Given the description of an element on the screen output the (x, y) to click on. 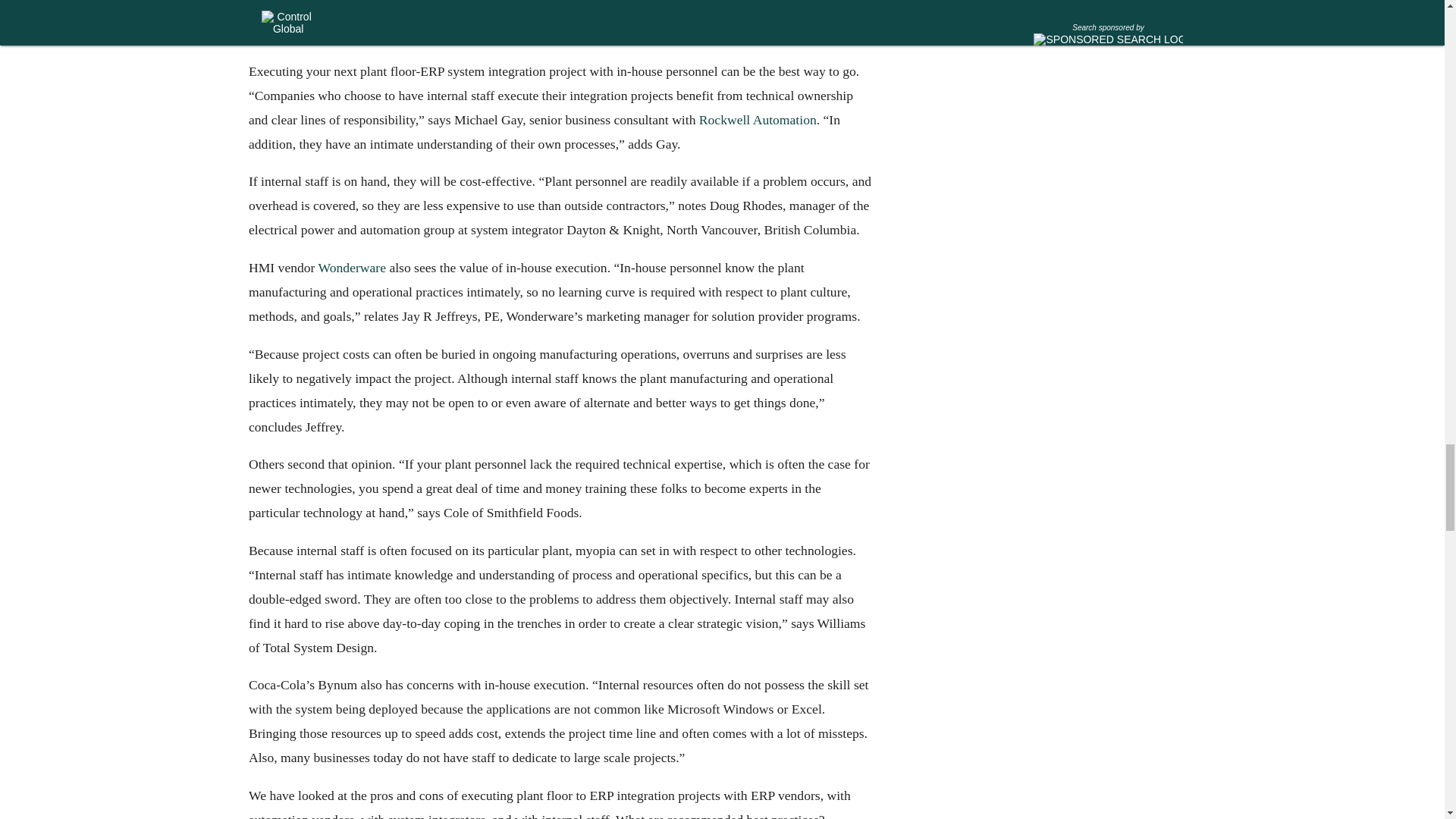
Rockwell Automation (756, 119)
Wonderware (351, 267)
